Given the description of an element on the screen output the (x, y) to click on. 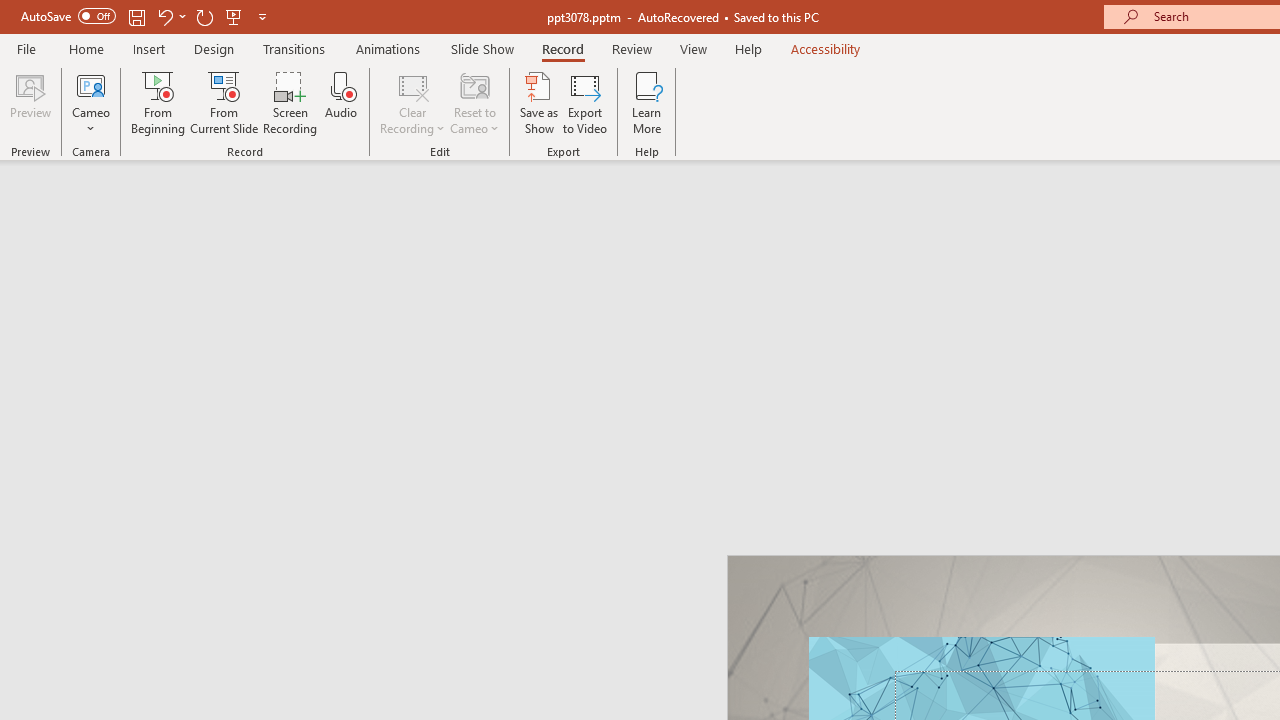
AutoSave (68, 16)
Home (86, 48)
Animations (388, 48)
Export to Video (585, 102)
Insert (149, 48)
Reset to Cameo (474, 102)
From Beginning... (158, 102)
Review (631, 48)
Design (214, 48)
Save (136, 15)
From Beginning (234, 15)
